Given the description of an element on the screen output the (x, y) to click on. 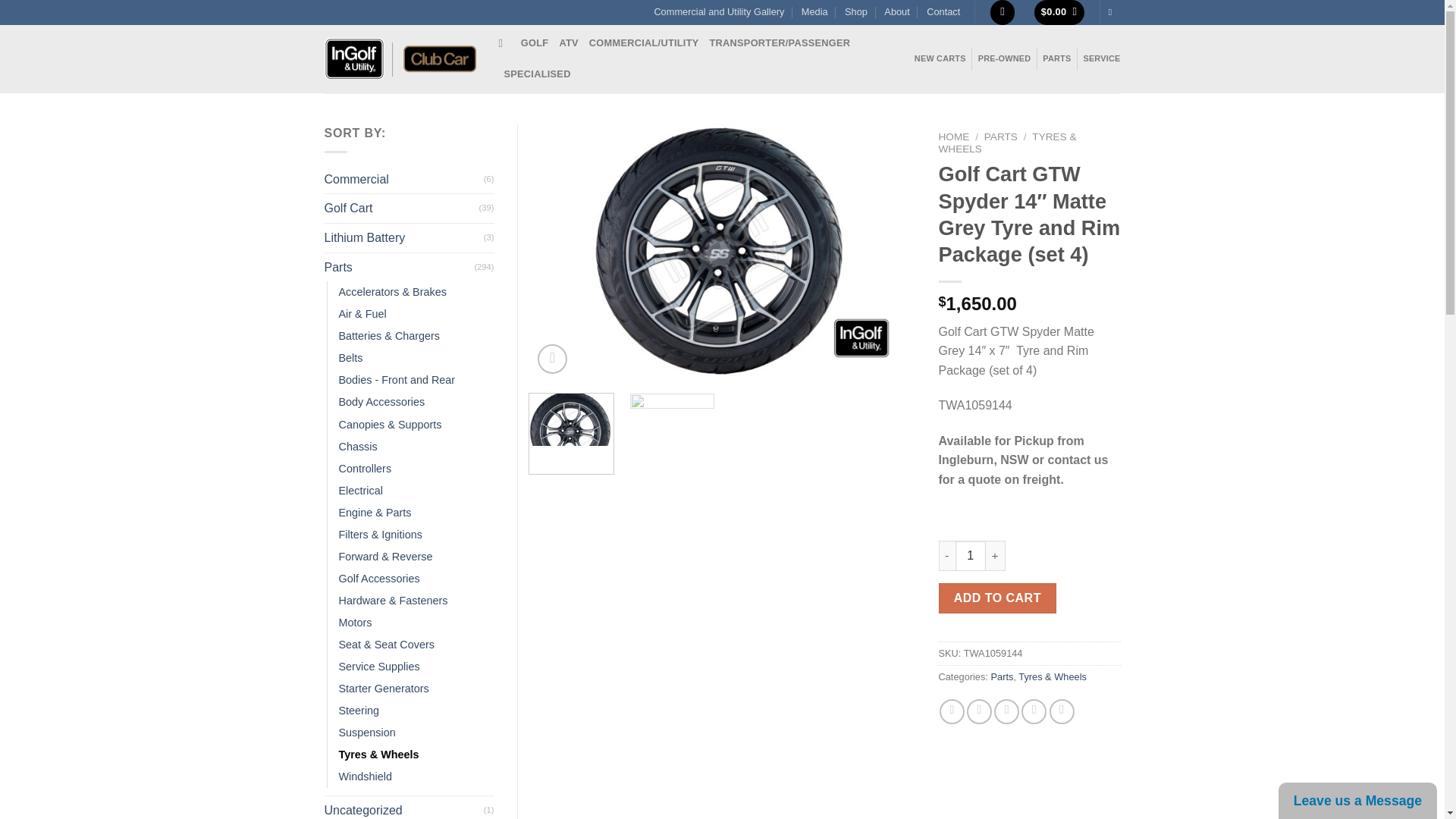
Email to a Friend (1006, 711)
PARTS (1000, 136)
PRE-OWNED (1004, 58)
GOLF (534, 42)
Parts (1001, 676)
Zoom (552, 358)
PARTS (1056, 58)
Commercial and Utility Gallery (718, 11)
Contact (942, 11)
Cart (1058, 12)
Media (815, 11)
Share on Facebook (951, 711)
Shop (855, 11)
Share on LinkedIn (1061, 711)
SERVICE (1101, 58)
